Given the description of an element on the screen output the (x, y) to click on. 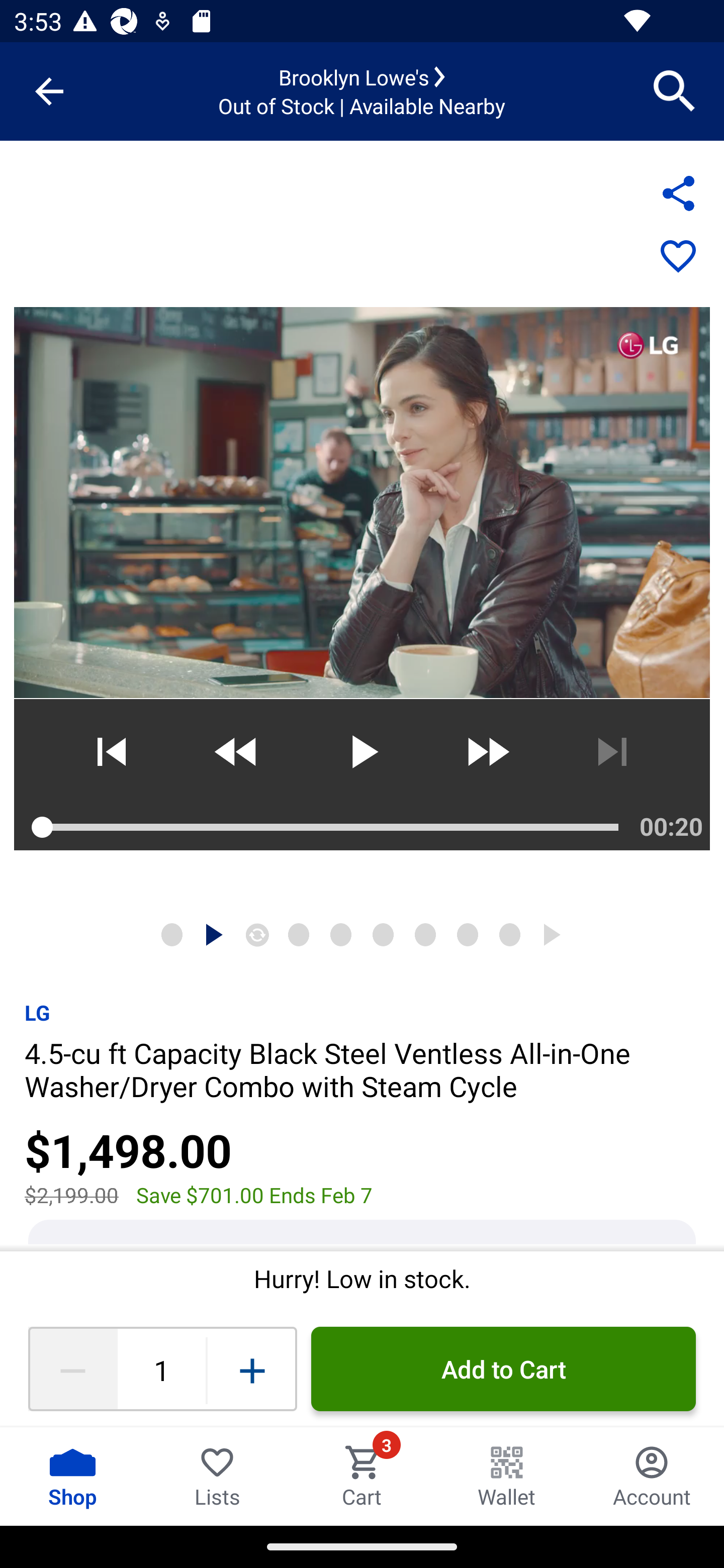
Navigate up (49, 91)
Search for products (674, 90)
Brooklyn Lowe's  Out of Stock | Available Nearby (361, 91)
Share (678, 193)
Save to List (678, 256)
Previous (110, 751)
Rewind (236, 751)
Play (361, 751)
Fast forward (486, 751)
Next (611, 751)
Decrease quantity (72, 1368)
1 (161, 1368)
Increase quantity (251, 1368)
Add to Cart (503, 1368)
Lists (216, 1475)
Cart Cart 3 (361, 1475)
Wallet (506, 1475)
Account (651, 1475)
